Given the description of an element on the screen output the (x, y) to click on. 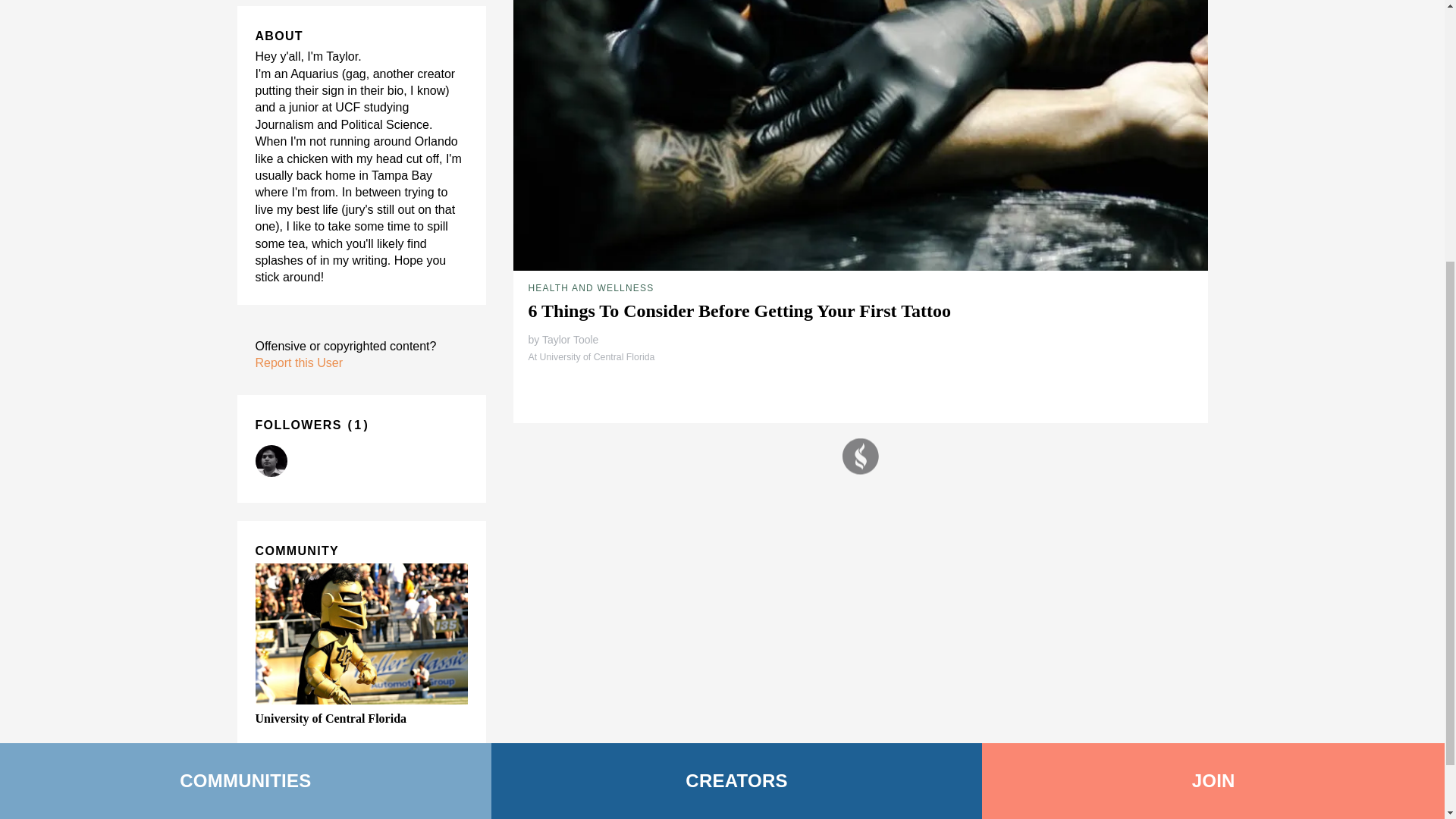
At University of Central Florida (590, 357)
6 Things To Consider Before Getting Your First Tattoo (738, 311)
CREATORS (737, 372)
Report this User (298, 362)
1 (357, 424)
Manchun (270, 460)
University of Central Florida (330, 717)
COMMUNITIES (246, 372)
Taylor Toole (569, 339)
HEALTH AND WELLNESS (590, 287)
